Given the description of an element on the screen output the (x, y) to click on. 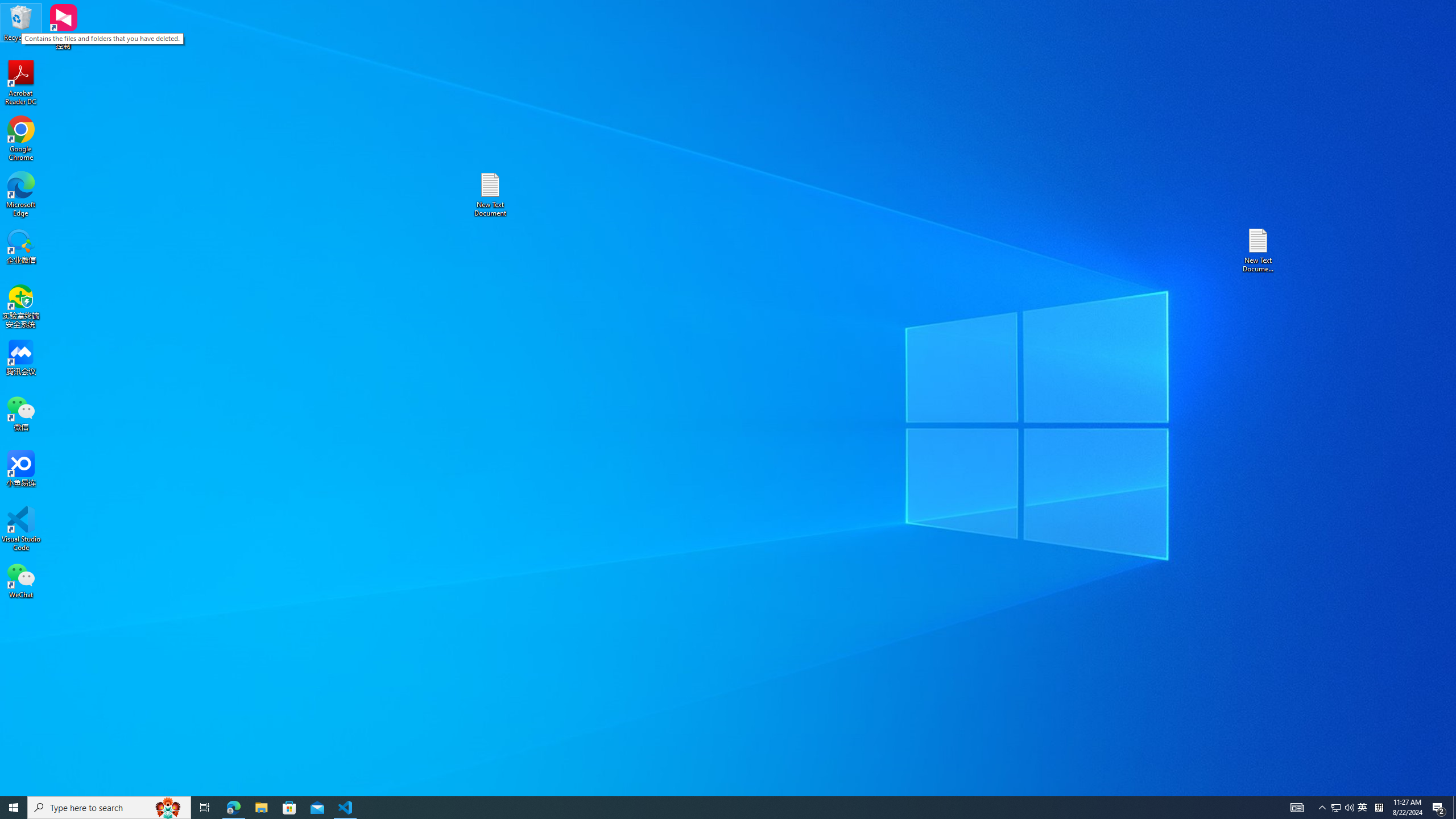
Microsoft Edge - 1 running window (233, 807)
Visual Studio Code (21, 528)
File Explorer (261, 807)
Action Center, 2 new notifications (1439, 807)
AutomationID: 4105 (1297, 807)
Visual Studio Code - 1 running window (345, 807)
Show desktop (1454, 807)
Google Chrome (21, 138)
Recycle Bin (21, 22)
Task View (204, 807)
New Text Document (489, 194)
Notification Chevron (1322, 807)
